Given the description of an element on the screen output the (x, y) to click on. 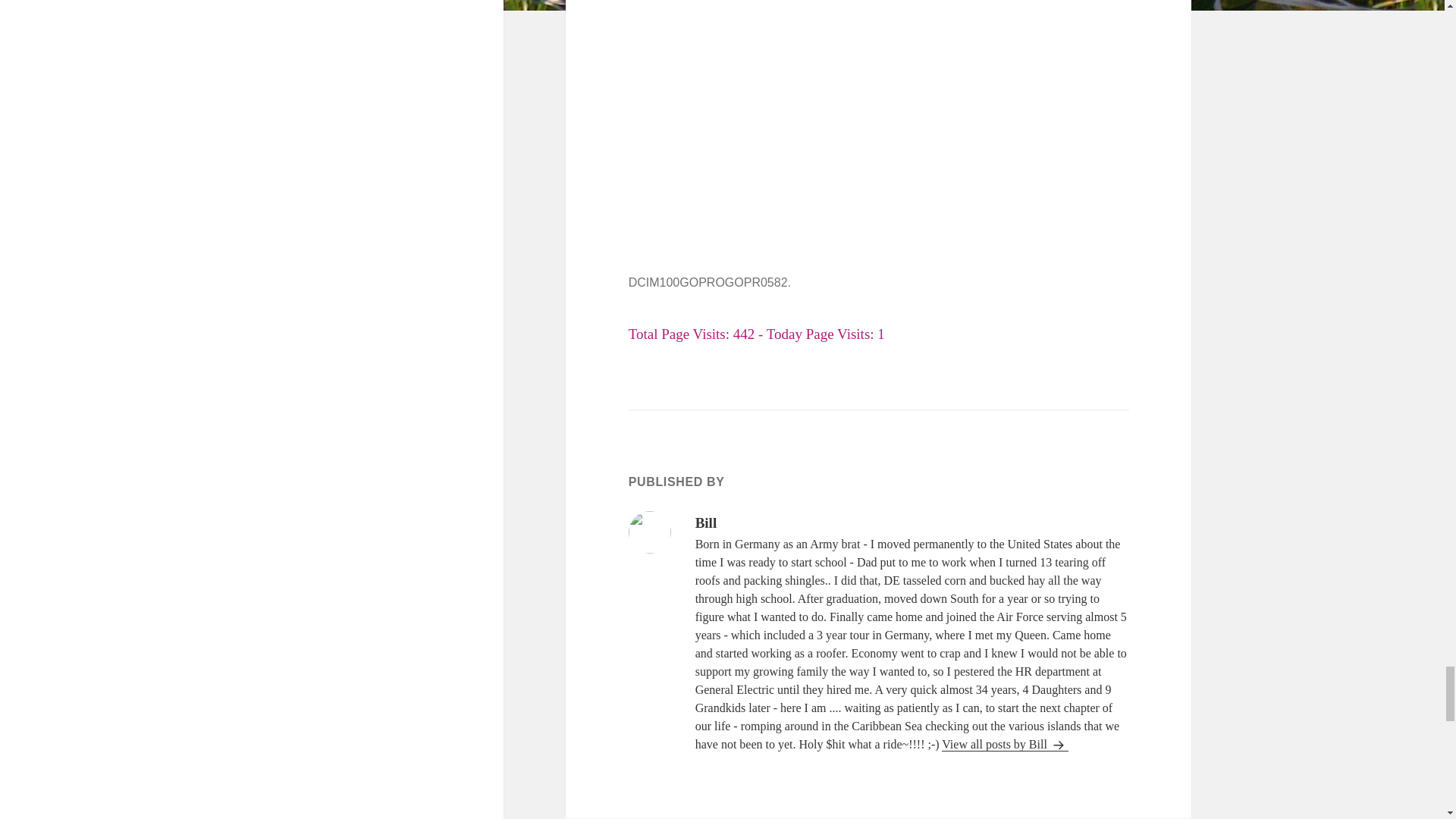
View all posts by Bill (1005, 744)
